Given the description of an element on the screen output the (x, y) to click on. 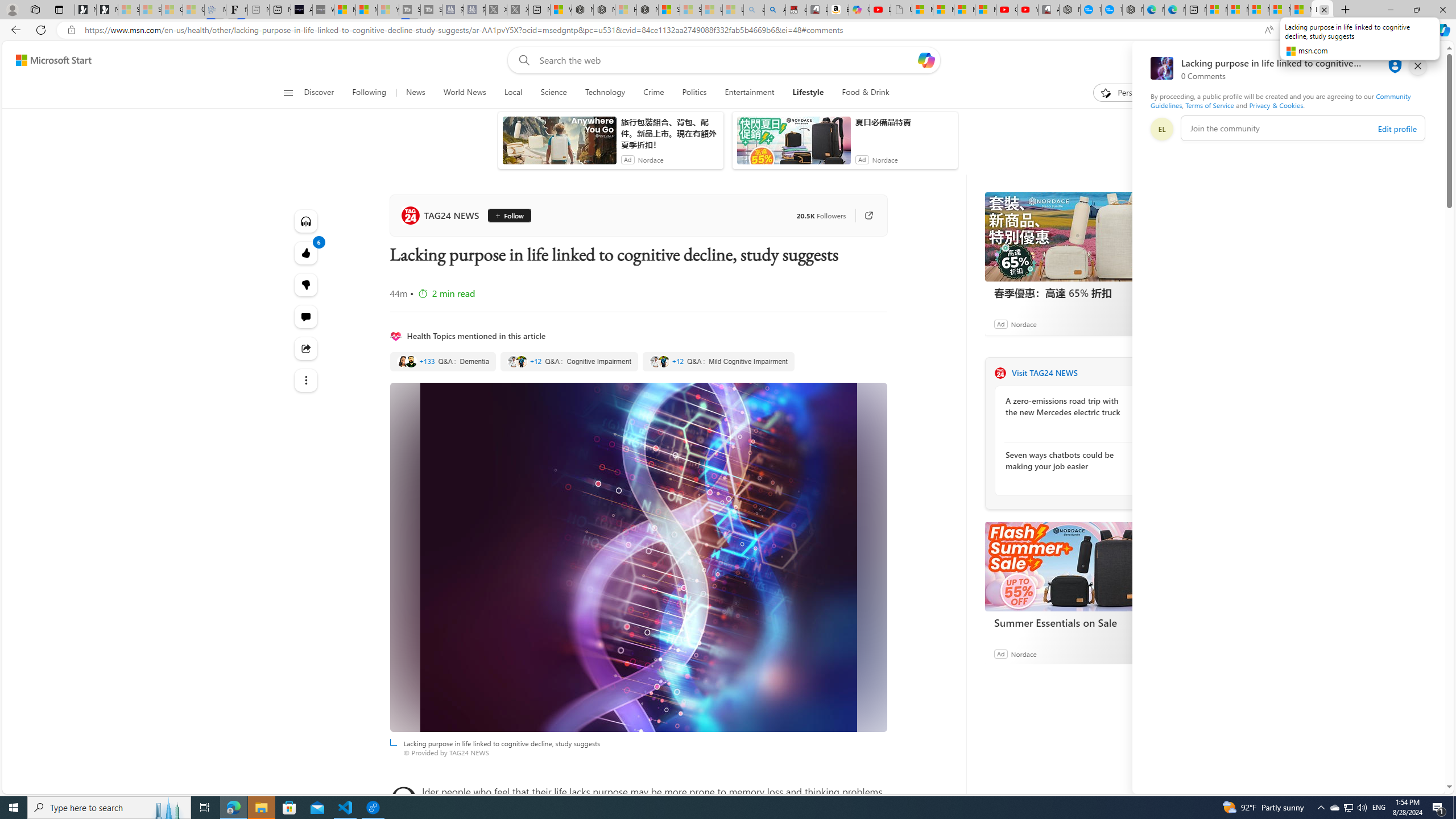
Nordace - Nordace Siena Is Not An Ordinary Backpack (646, 9)
Enter Immersive Reader (F9) (1291, 29)
Go to publisher's site (863, 215)
Summer Essentials on Sale (1070, 566)
Summer Essentials on Sale (1069, 622)
